Given the description of an element on the screen output the (x, y) to click on. 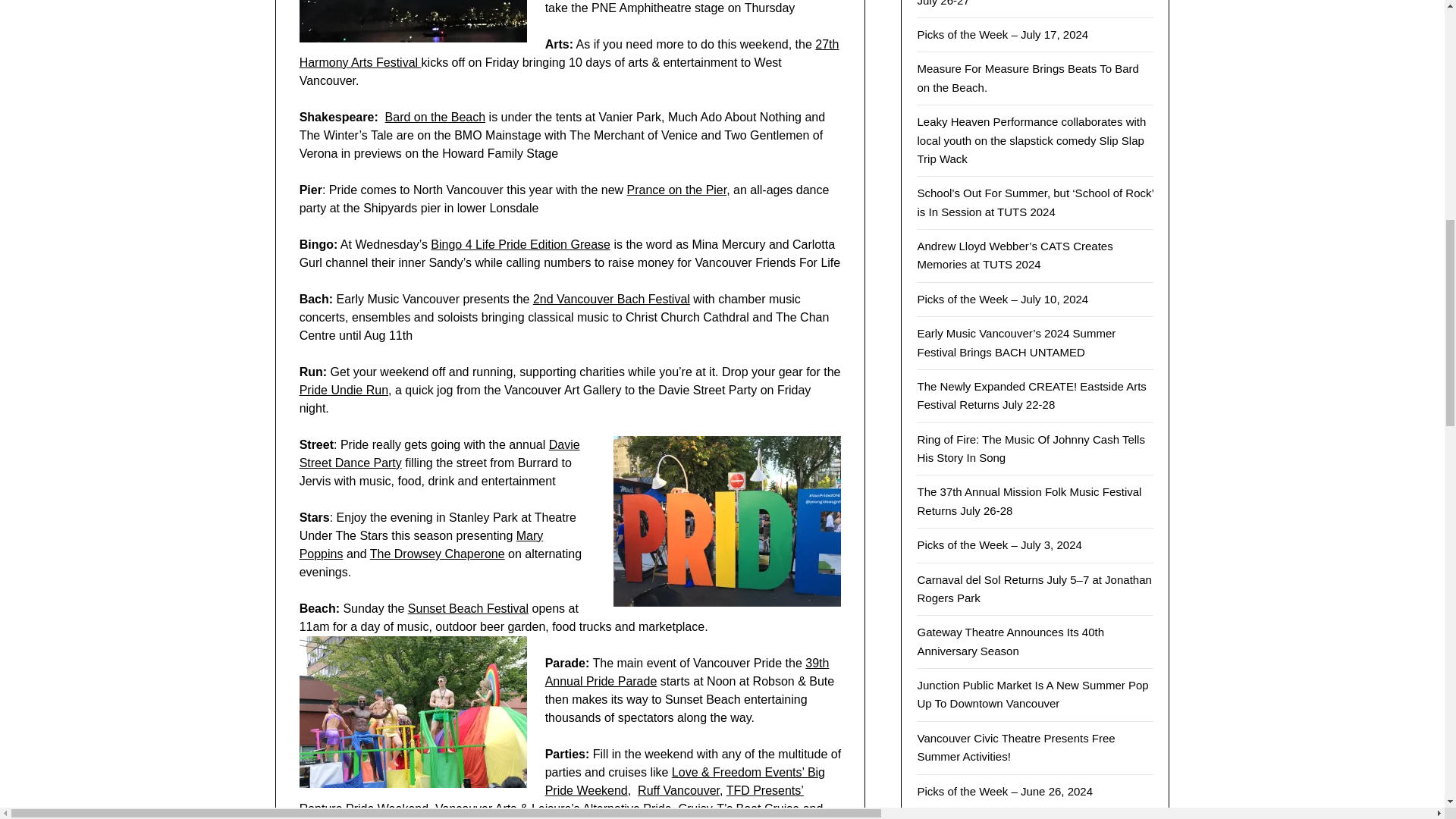
Davie Street Dance Party (439, 453)
Bingo 4 Life Pride Edition Grease (520, 244)
Ruff Vancouver (678, 789)
Pride Undie Run (343, 390)
39th Annual Pride Parade (686, 671)
Prance on the Pier (676, 189)
2nd Vancouver Bach Festival (611, 298)
27th Harmony Arts Festival (569, 52)
Sunset Beach Festival (467, 608)
The Drowsey Chaperone (437, 553)
Bard on the Beach (435, 116)
Mary Poppins (421, 544)
